Given the description of an element on the screen output the (x, y) to click on. 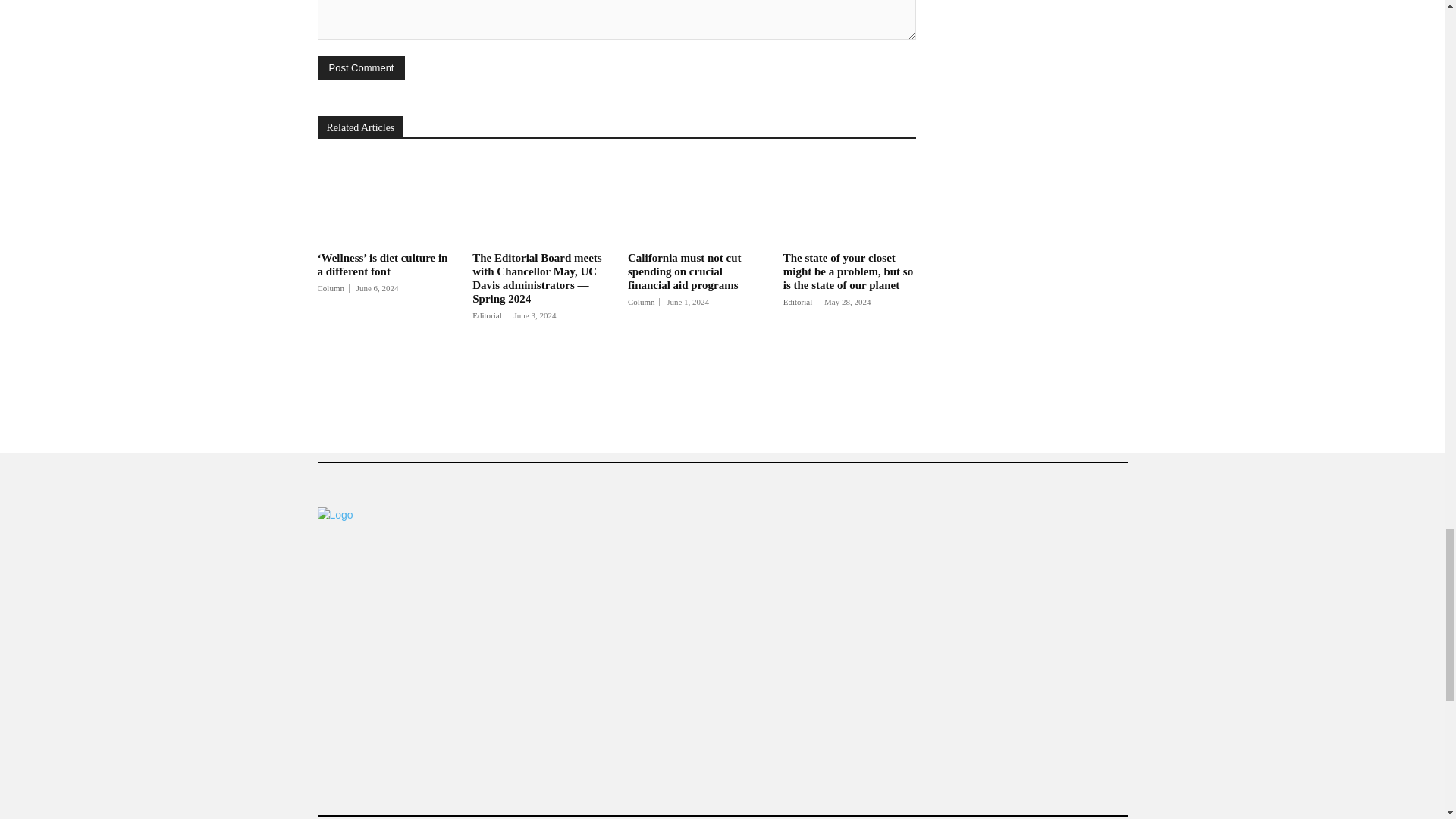
Post Comment (360, 67)
